Given the description of an element on the screen output the (x, y) to click on. 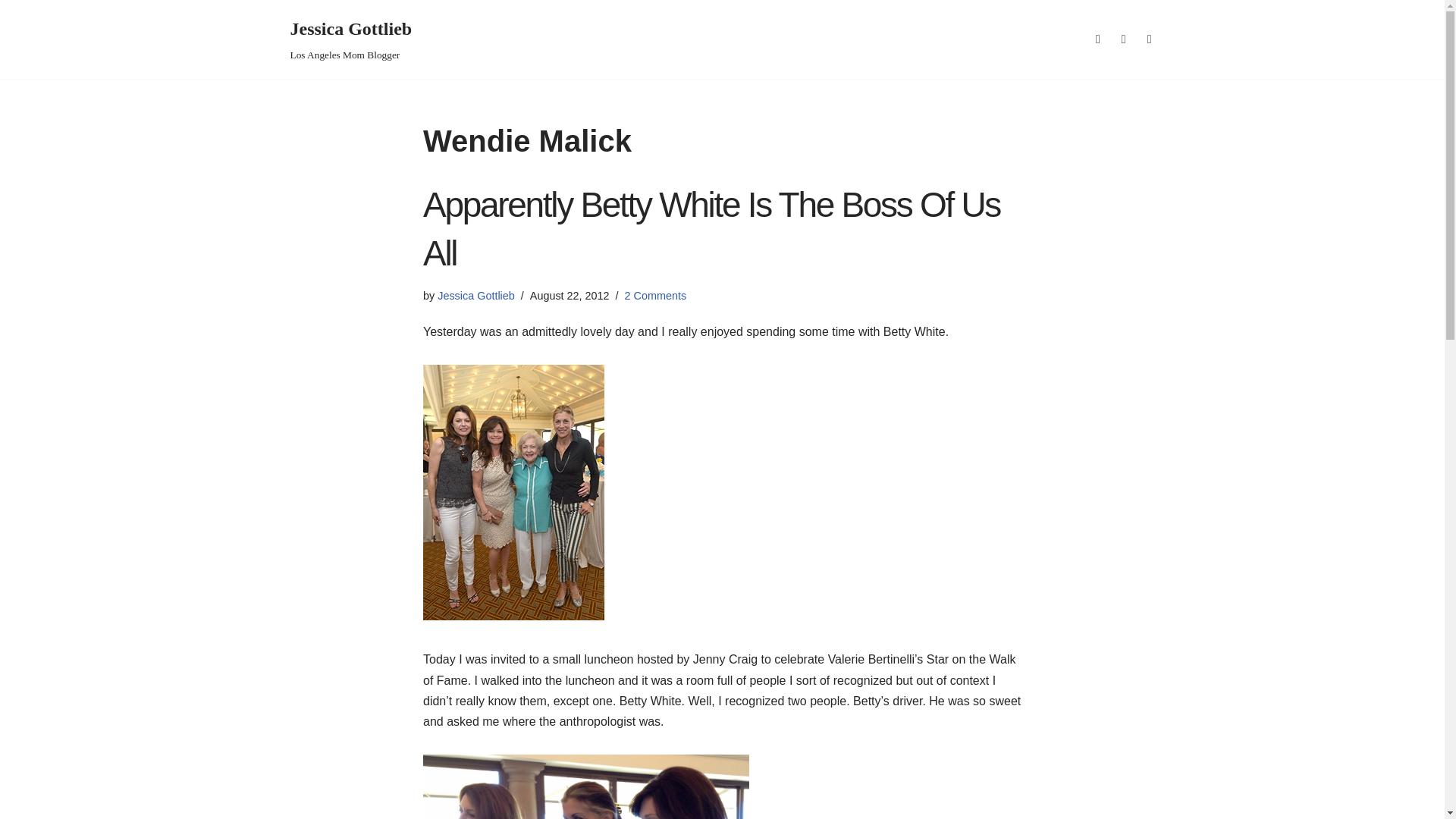
Jessica Gottlieb (350, 39)
Jessica Gottlieb (350, 39)
Valerie Bertinelli Jane Leeves Wendie Malick (476, 295)
Skip to content (586, 786)
Posts by Jessica Gottlieb (11, 31)
2 Comments (476, 295)
Apparently Betty White Is The Boss Of Us All (655, 295)
